Given the description of an element on the screen output the (x, y) to click on. 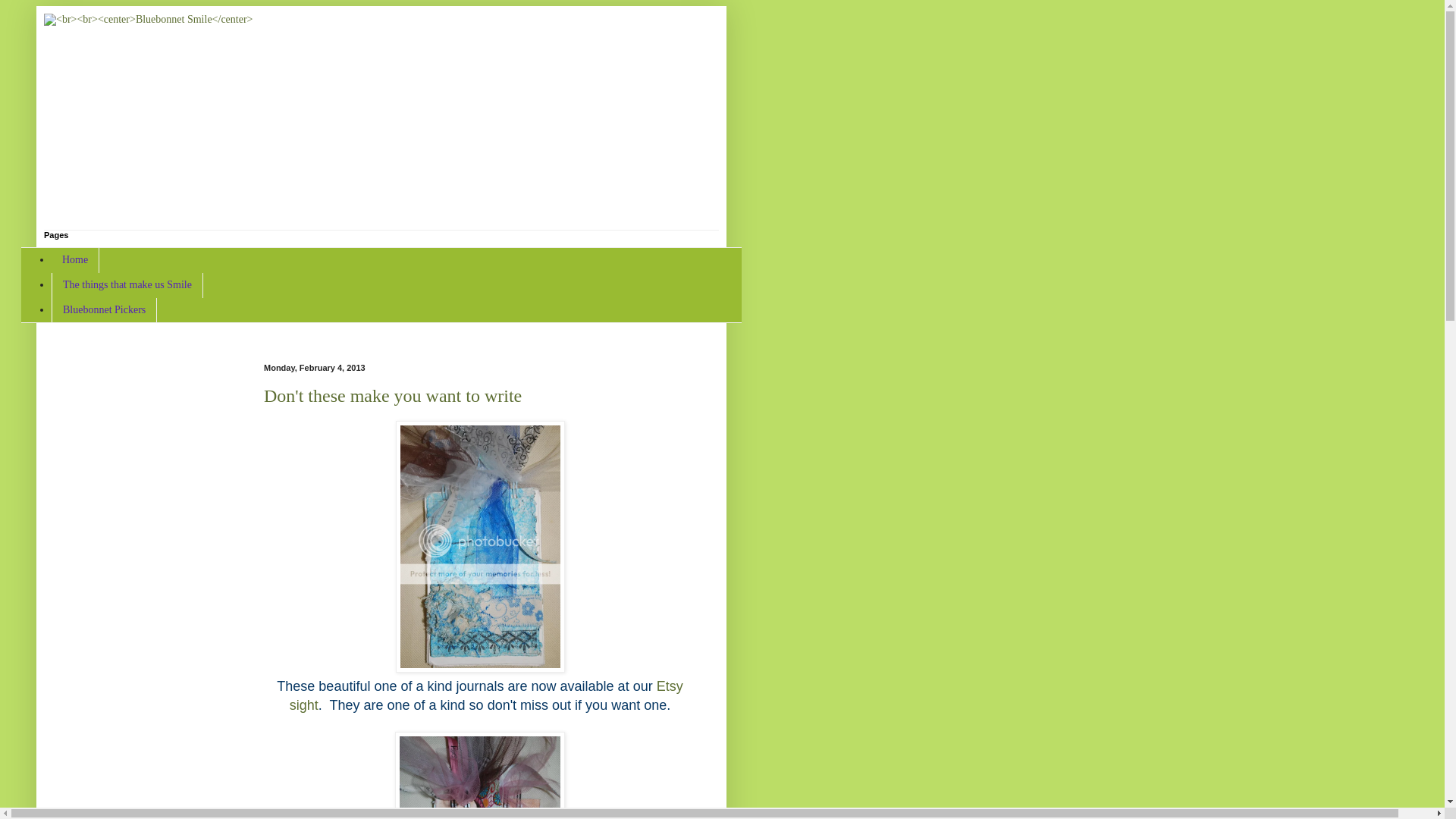
Don't these make you want to write (392, 395)
Bluebonnet Pickers (103, 310)
The things that make us Smile (126, 285)
Home (74, 260)
Etsy sight (485, 695)
